Given the description of an element on the screen output the (x, y) to click on. 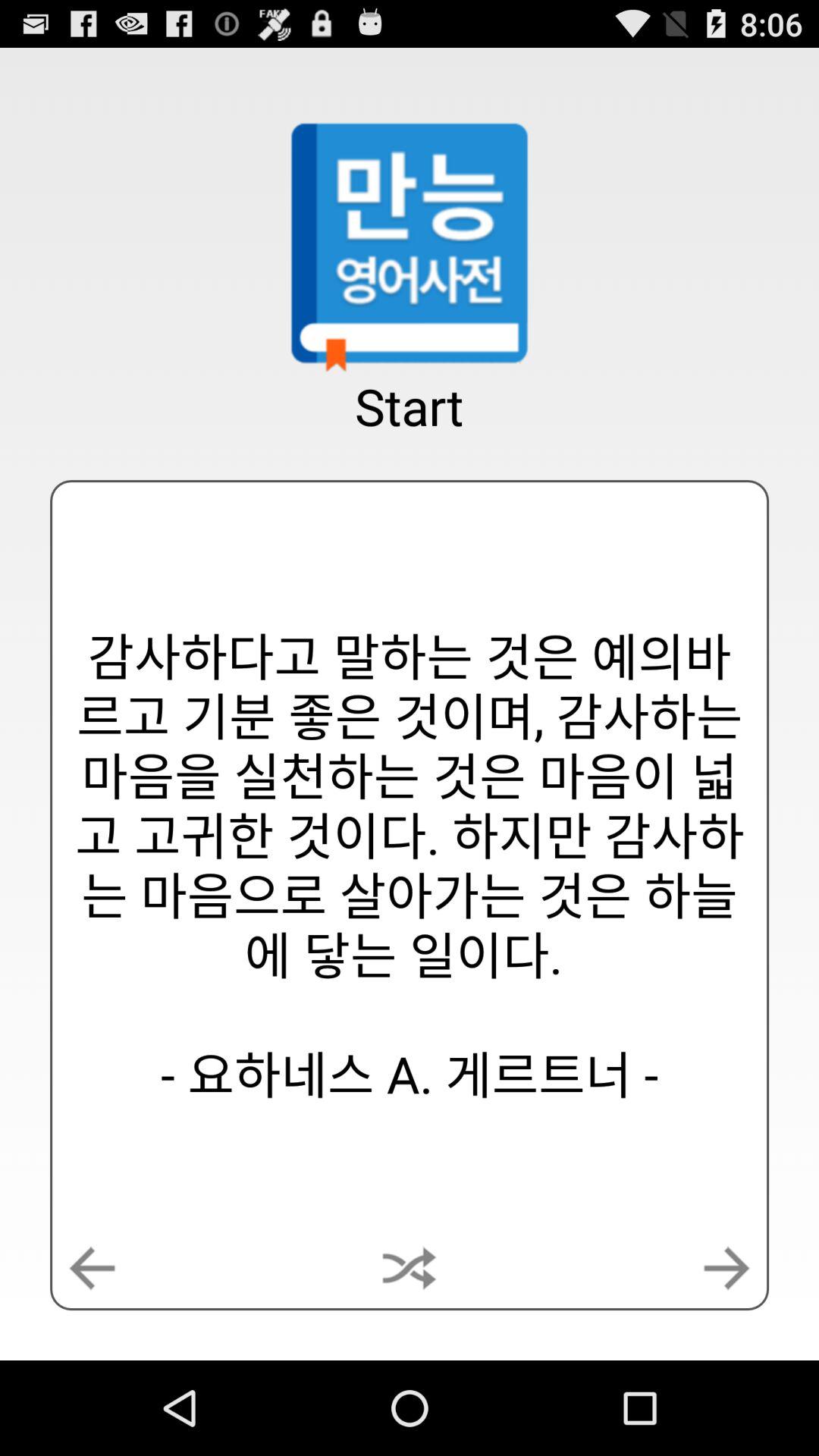
press the app above the start app (409, 244)
